Given the description of an element on the screen output the (x, y) to click on. 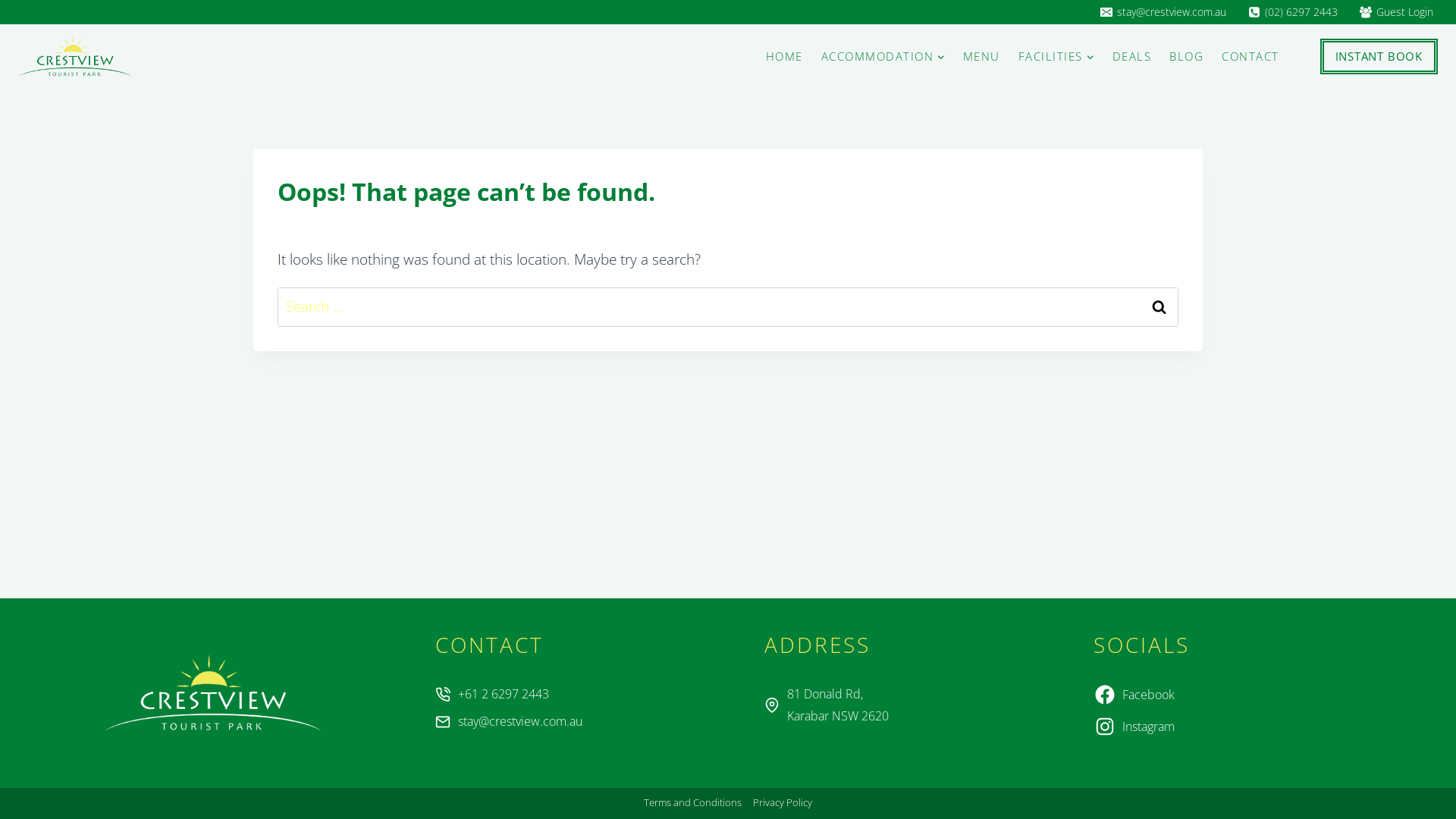
stay@crestview.com.au Element type: text (1163, 12)
Search Element type: text (1159, 306)
Privacy Policy Element type: text (783, 802)
BLOG Element type: text (1186, 56)
Facebook Element type: text (1136, 694)
stay@crestview.com.au Element type: text (520, 722)
Instagram Element type: text (1136, 726)
DEALS Element type: text (1131, 56)
HOME Element type: text (784, 56)
+61 2 6297 2443 Element type: text (503, 694)
MENU Element type: text (981, 56)
Terms and Conditions Element type: text (692, 802)
FACILITIES Element type: text (1056, 56)
INSTANT BOOK Element type: text (1378, 55)
ACCOMMODATION Element type: text (882, 56)
CONTACT Element type: text (1249, 56)
(02) 6297 2443 Element type: text (1292, 12)
Guest Login Element type: text (1395, 12)
